Given the description of an element on the screen output the (x, y) to click on. 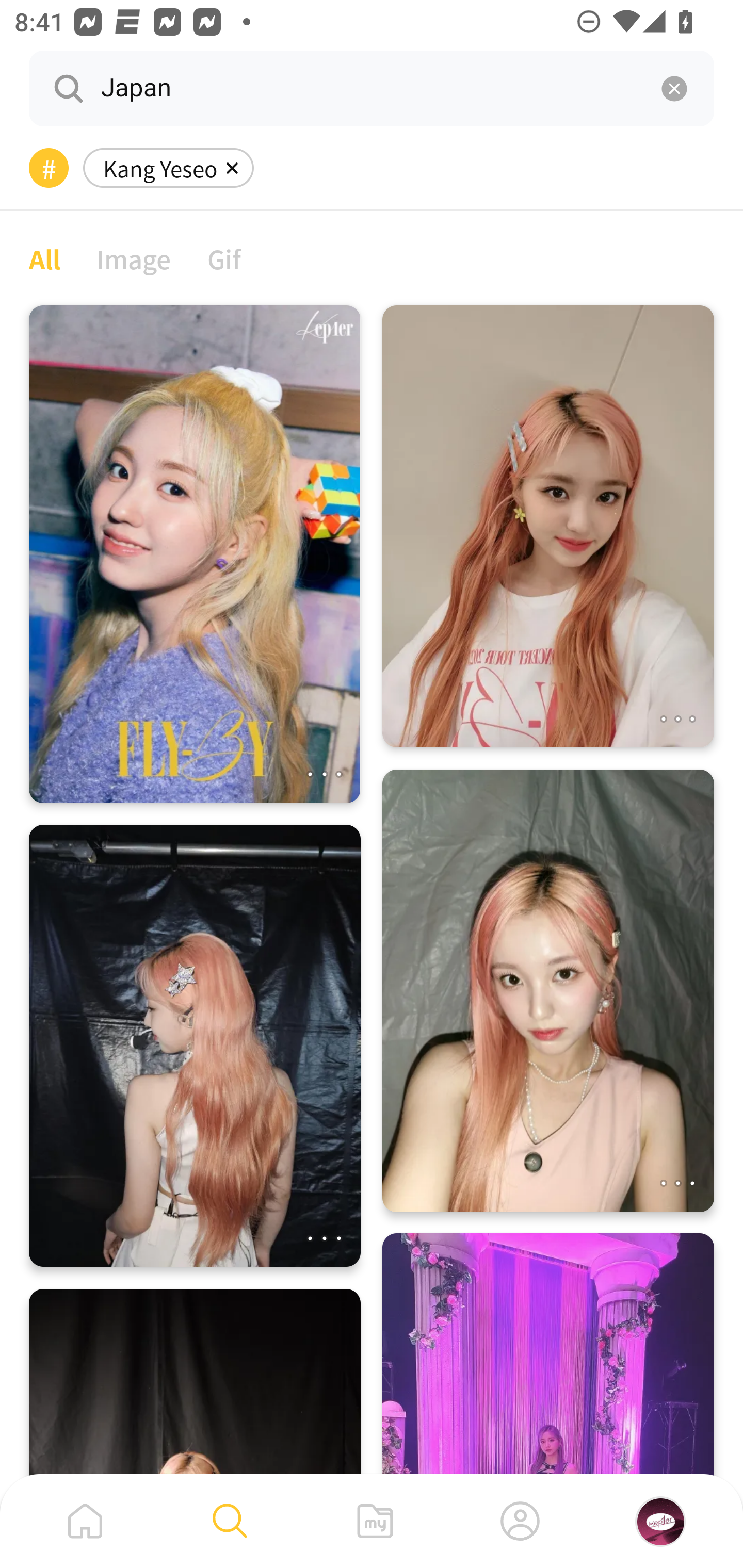
All (44, 257)
Image (133, 257)
Gif (223, 257)
